Given the description of an element on the screen output the (x, y) to click on. 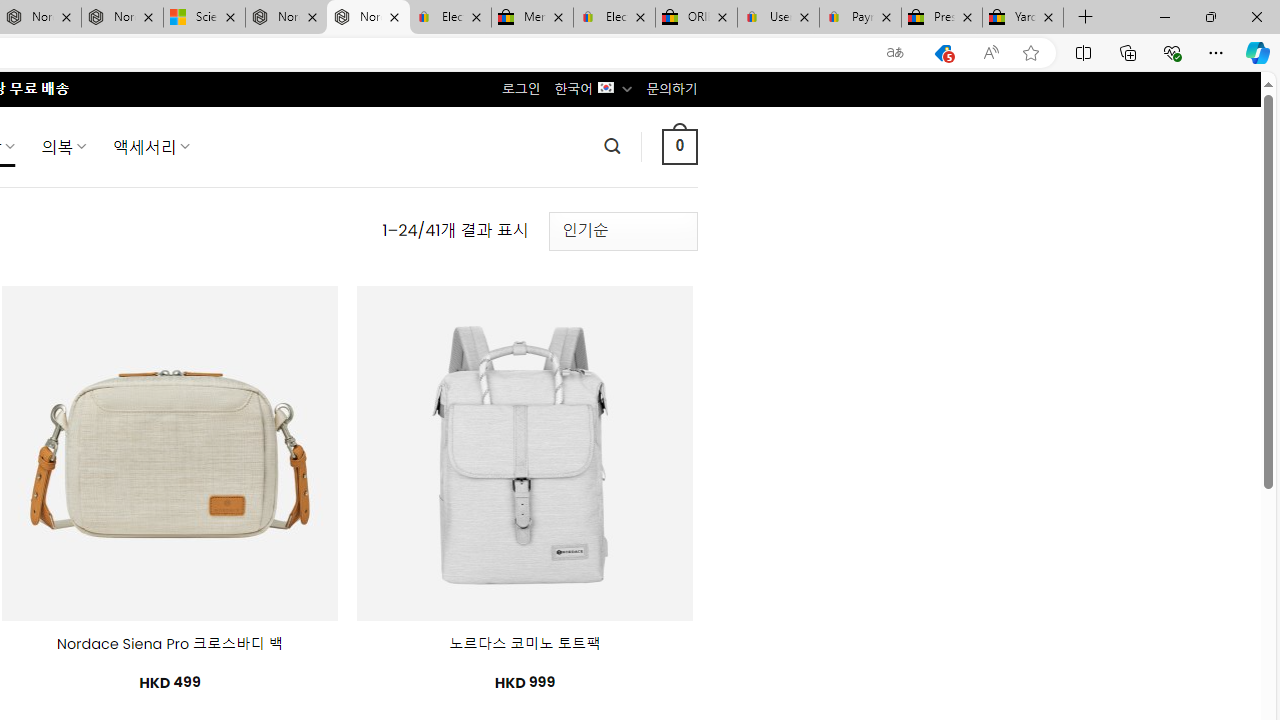
This site has coupons! Shopping in Microsoft Edge, 5 (943, 53)
Press Room - eBay Inc. (941, 17)
 0  (679, 146)
Nordace - Summer Adventures 2024 (285, 17)
